Given the description of an element on the screen output the (x, y) to click on. 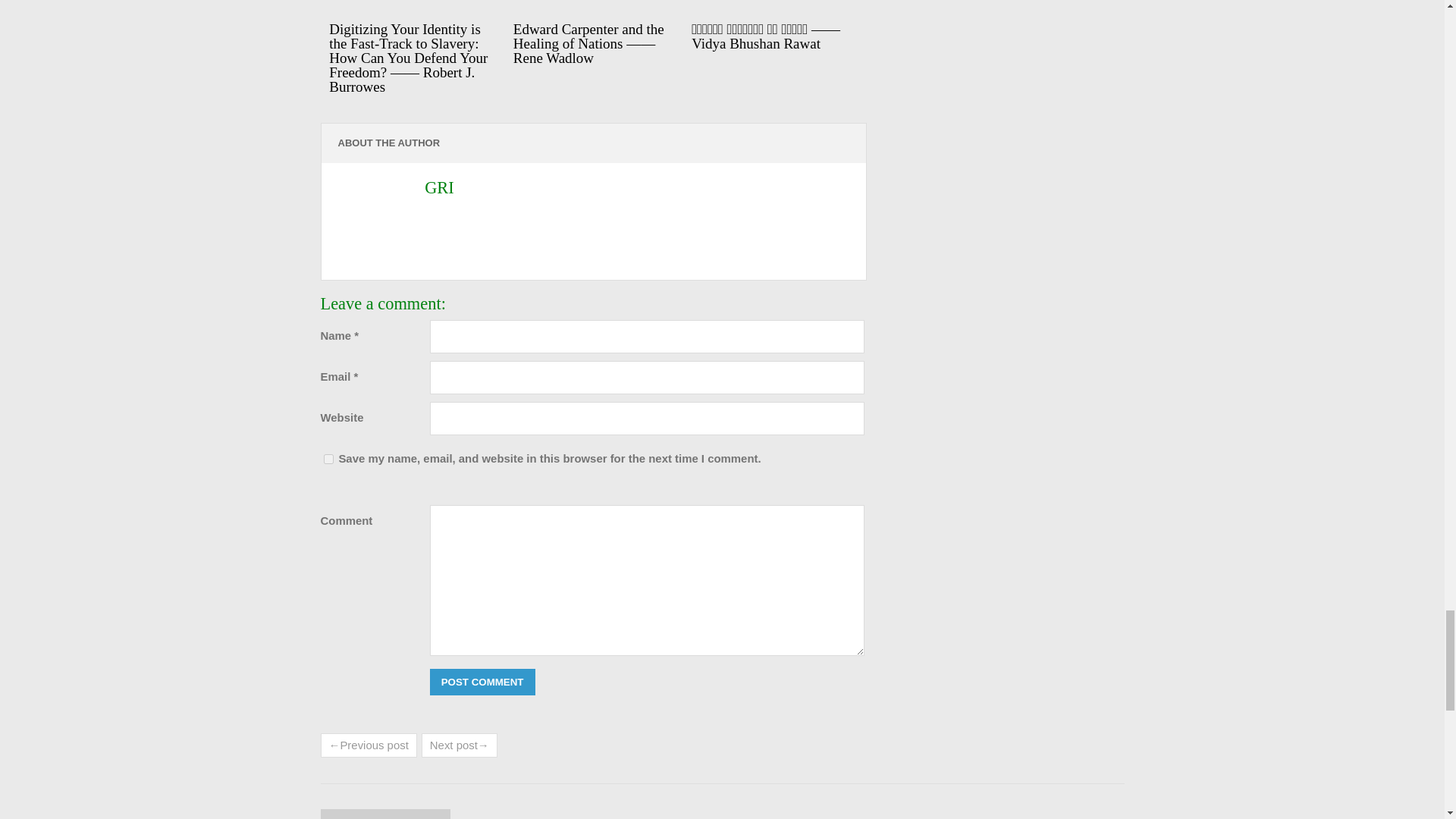
yes (328, 459)
POST COMMENT (482, 682)
